Given the description of an element on the screen output the (x, y) to click on. 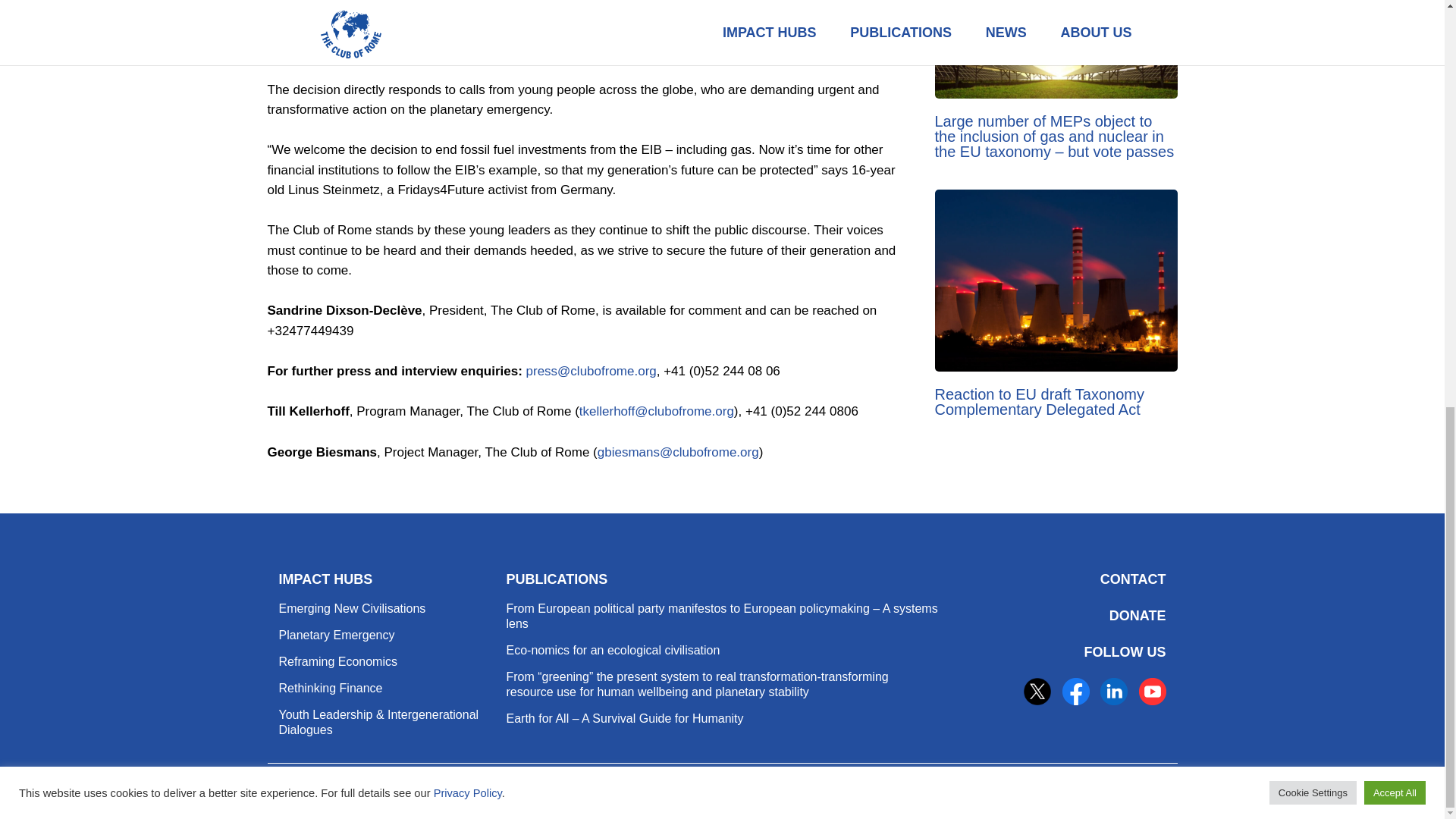
LinkedIn (1113, 691)
Facebook (1075, 691)
YouTube (1152, 691)
Twitter (1037, 691)
